Given the description of an element on the screen output the (x, y) to click on. 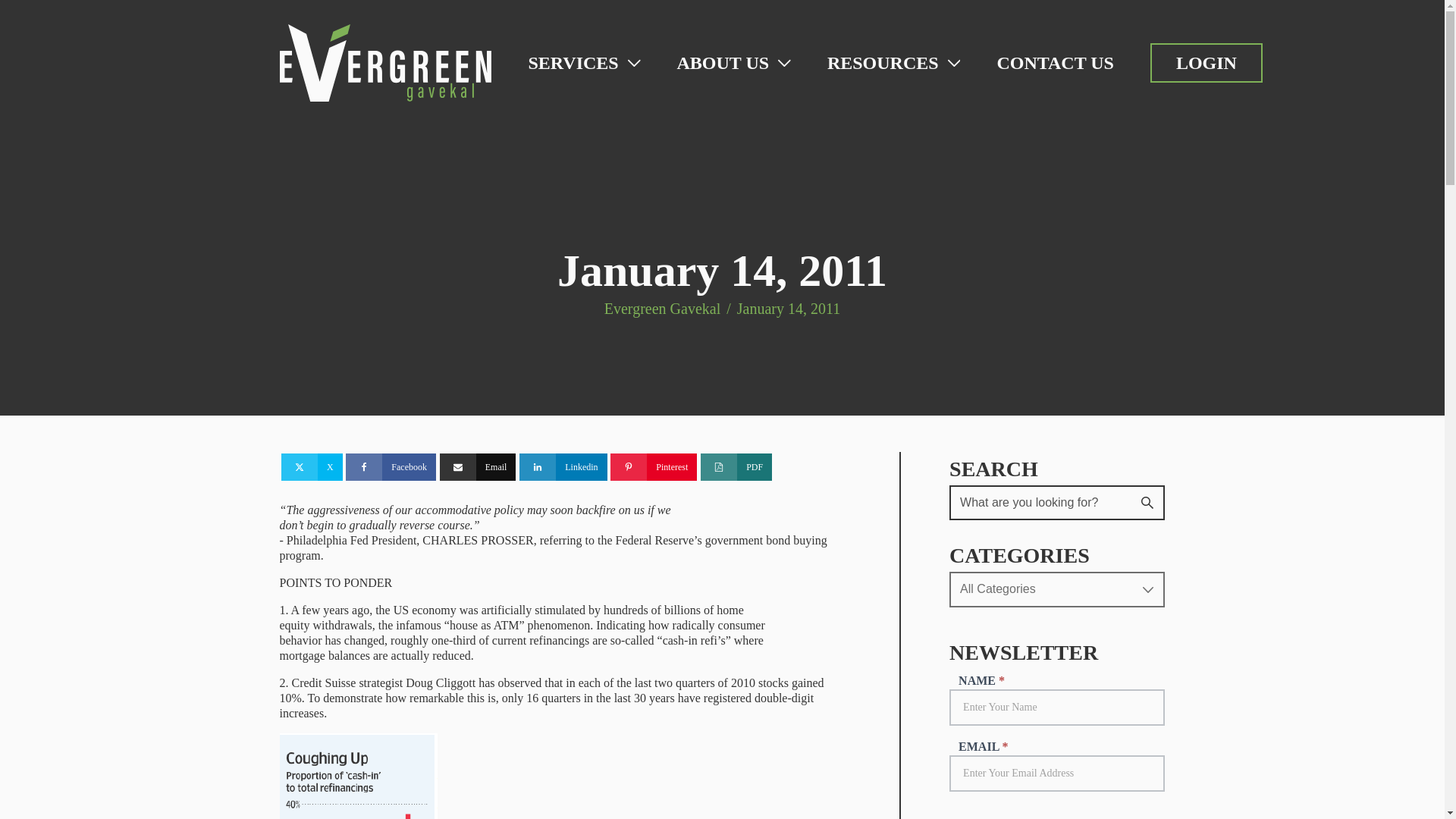
ABOUT US (733, 62)
Linkedin (563, 466)
Facebook (390, 466)
X (311, 466)
SERVICES (583, 62)
RESOURCES (893, 62)
CONTACT US (1054, 62)
LOGIN (1205, 63)
Pinterest (653, 466)
PDF (735, 466)
Email (477, 466)
